Given the description of an element on the screen output the (x, y) to click on. 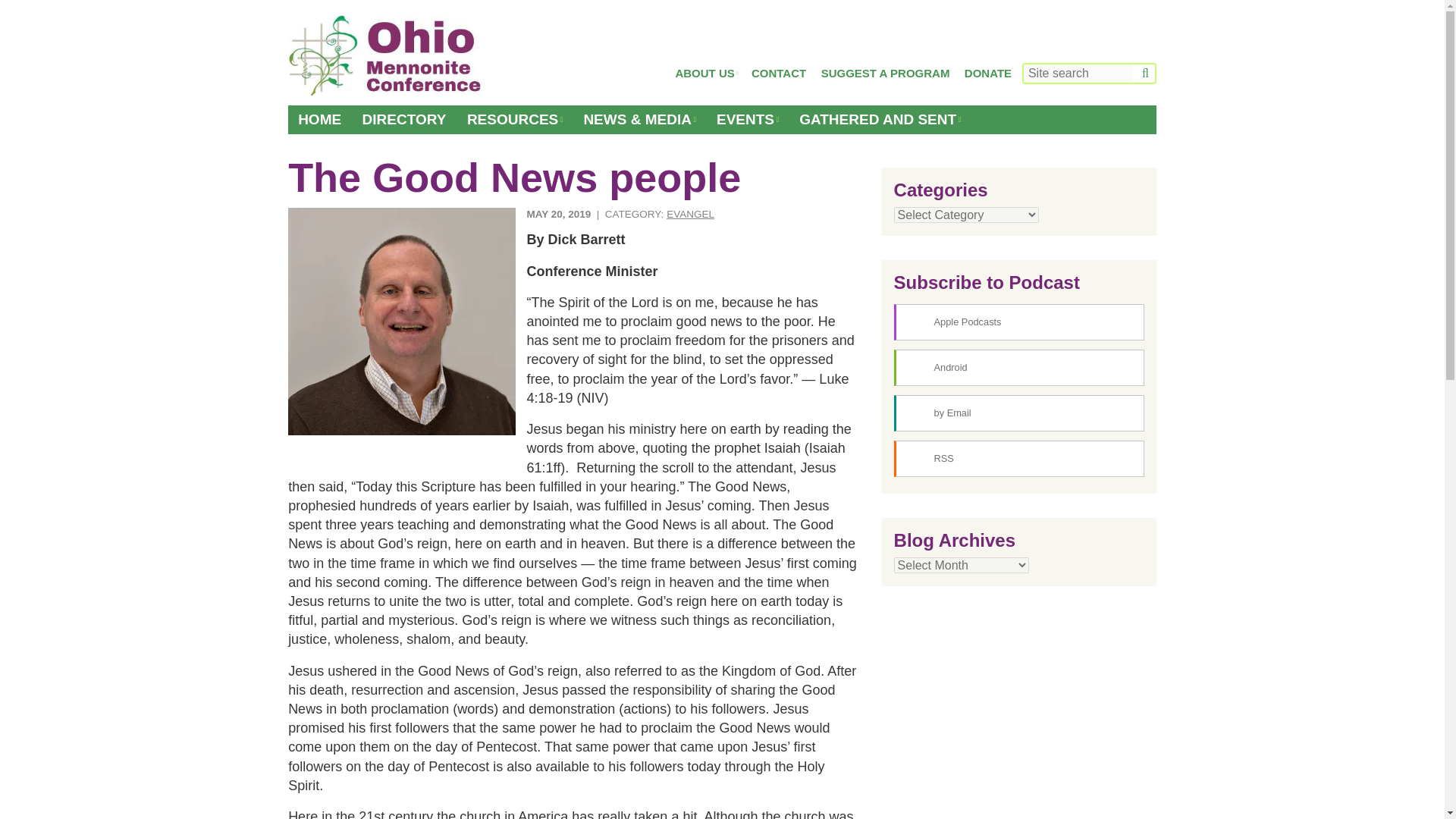
Ohio Mennonite Conference (384, 55)
Subscribe on Android (1018, 367)
HOME (319, 119)
Subscribe on Apple Podcasts (1018, 321)
Subscribe by Email (1018, 412)
The Good News people (401, 321)
RESOURCES (514, 119)
DIRECTORY (404, 119)
Subscribe via RSS (1018, 458)
